Given the description of an element on the screen output the (x, y) to click on. 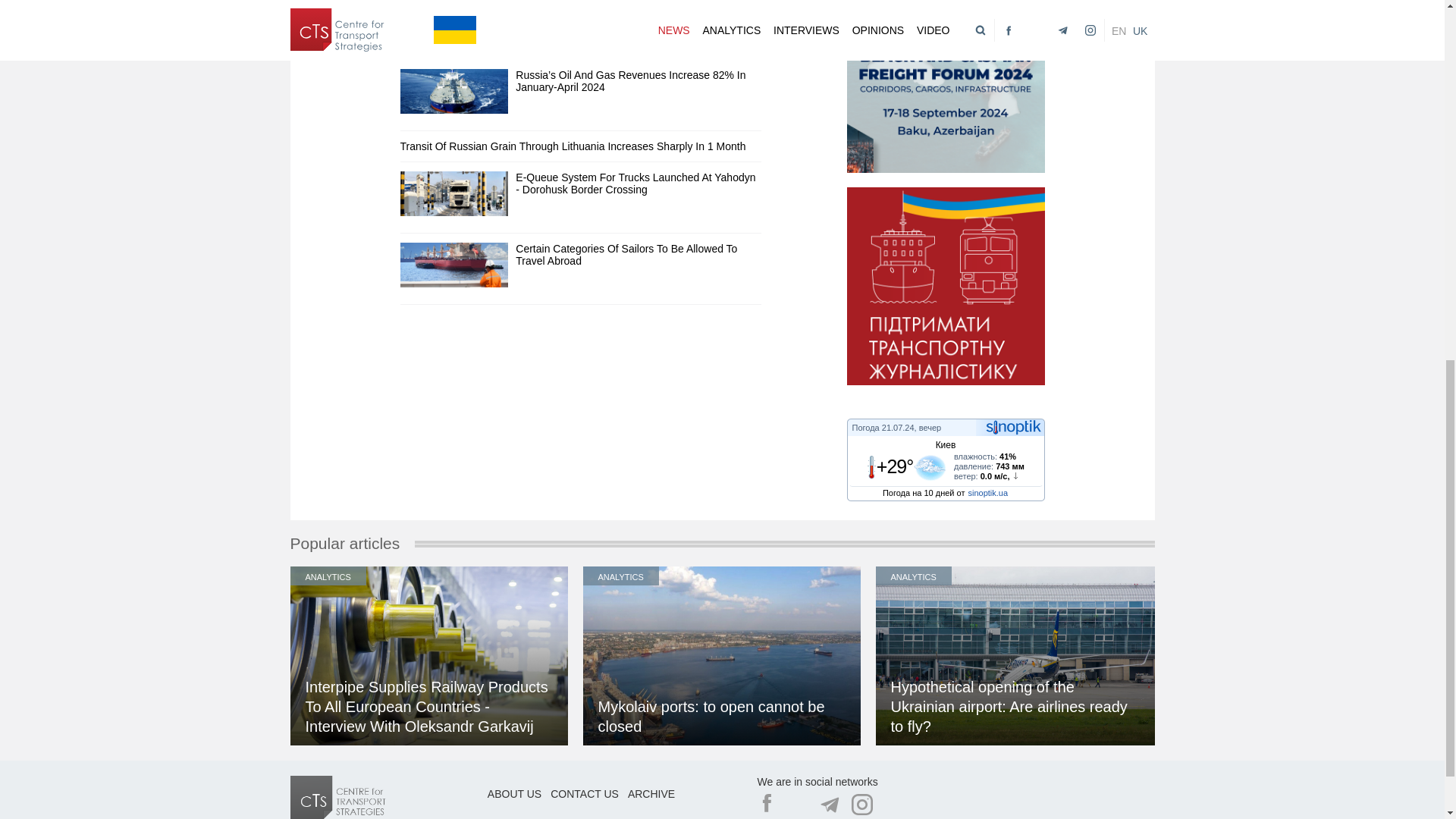
Certain Categories Of Sailors To Be Allowed To Travel Abroad (625, 254)
Twitter (797, 804)
